Given the description of an element on the screen output the (x, y) to click on. 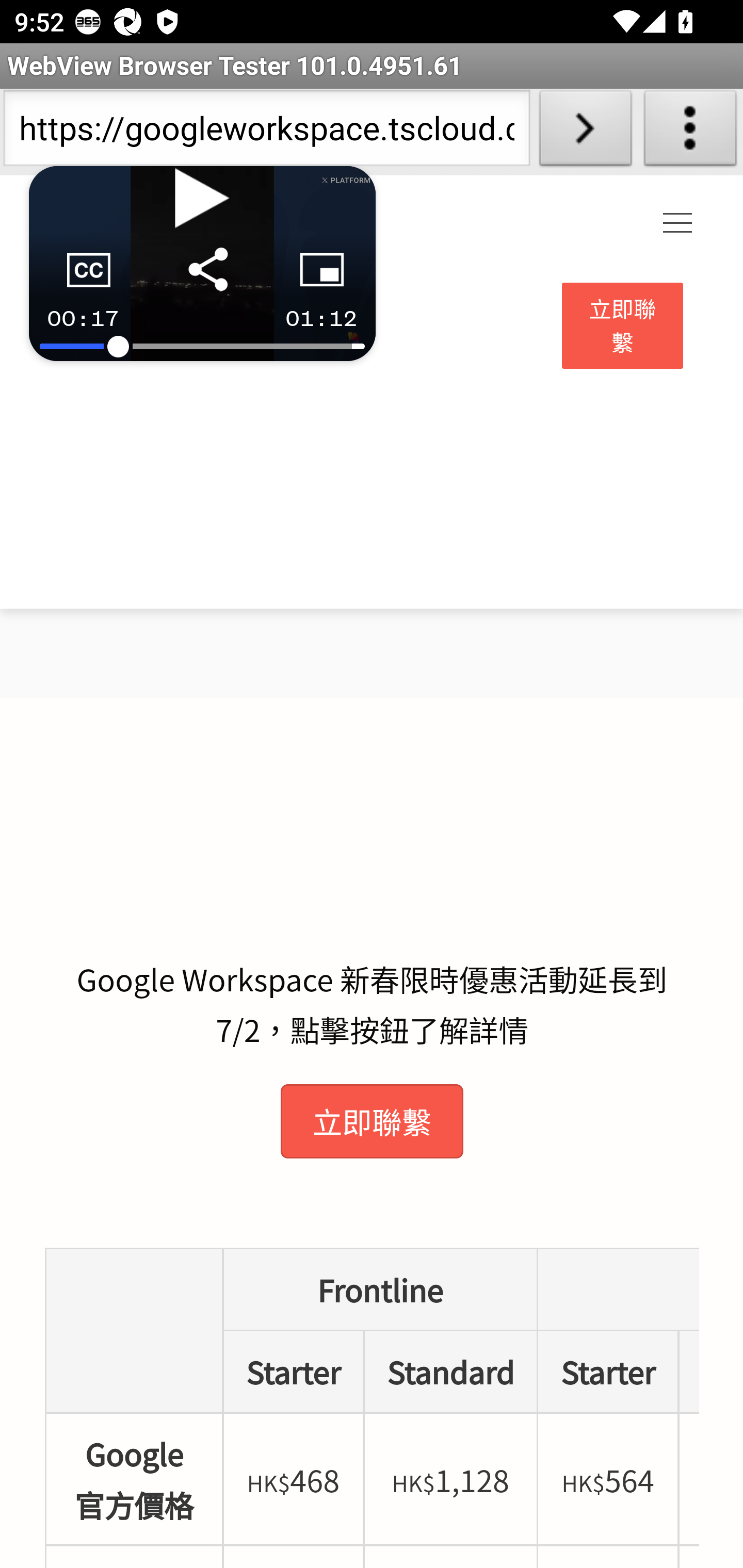
Load URL (585, 132)
About WebView (690, 132)
javascript:void(0) (677, 223)
立即聯繫 (622, 325)
立即聯繫 (371, 1120)
